Given the description of an element on the screen output the (x, y) to click on. 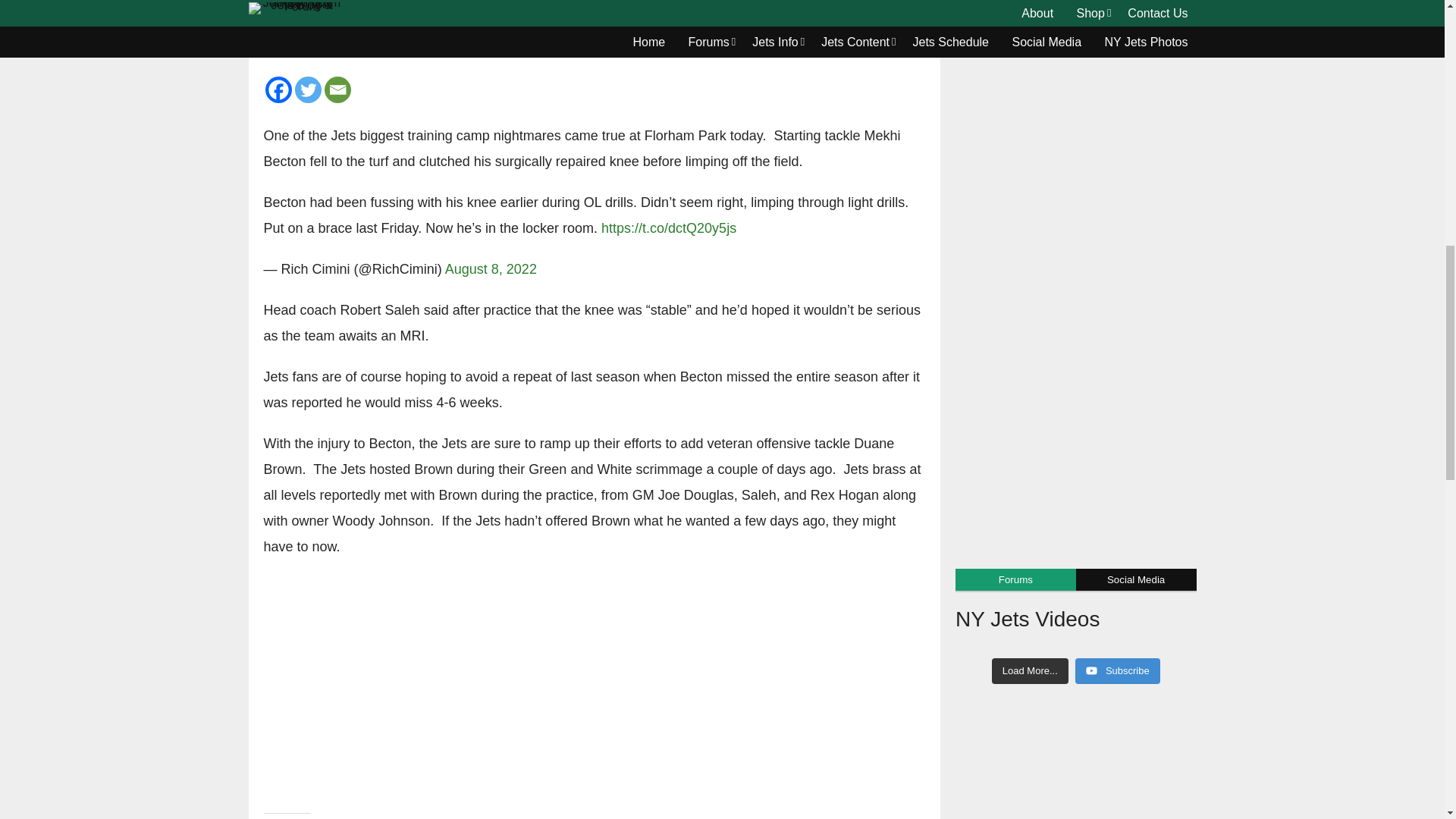
Email (337, 89)
Facebook (278, 89)
Twitter (307, 89)
